Given the description of an element on the screen output the (x, y) to click on. 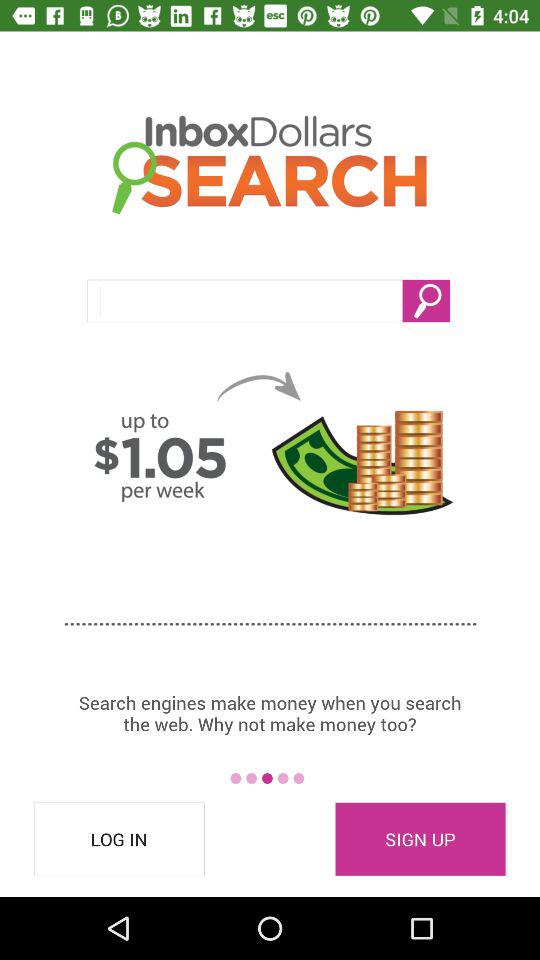
tap the icon at the bottom right corner (420, 839)
